Given the description of an element on the screen output the (x, y) to click on. 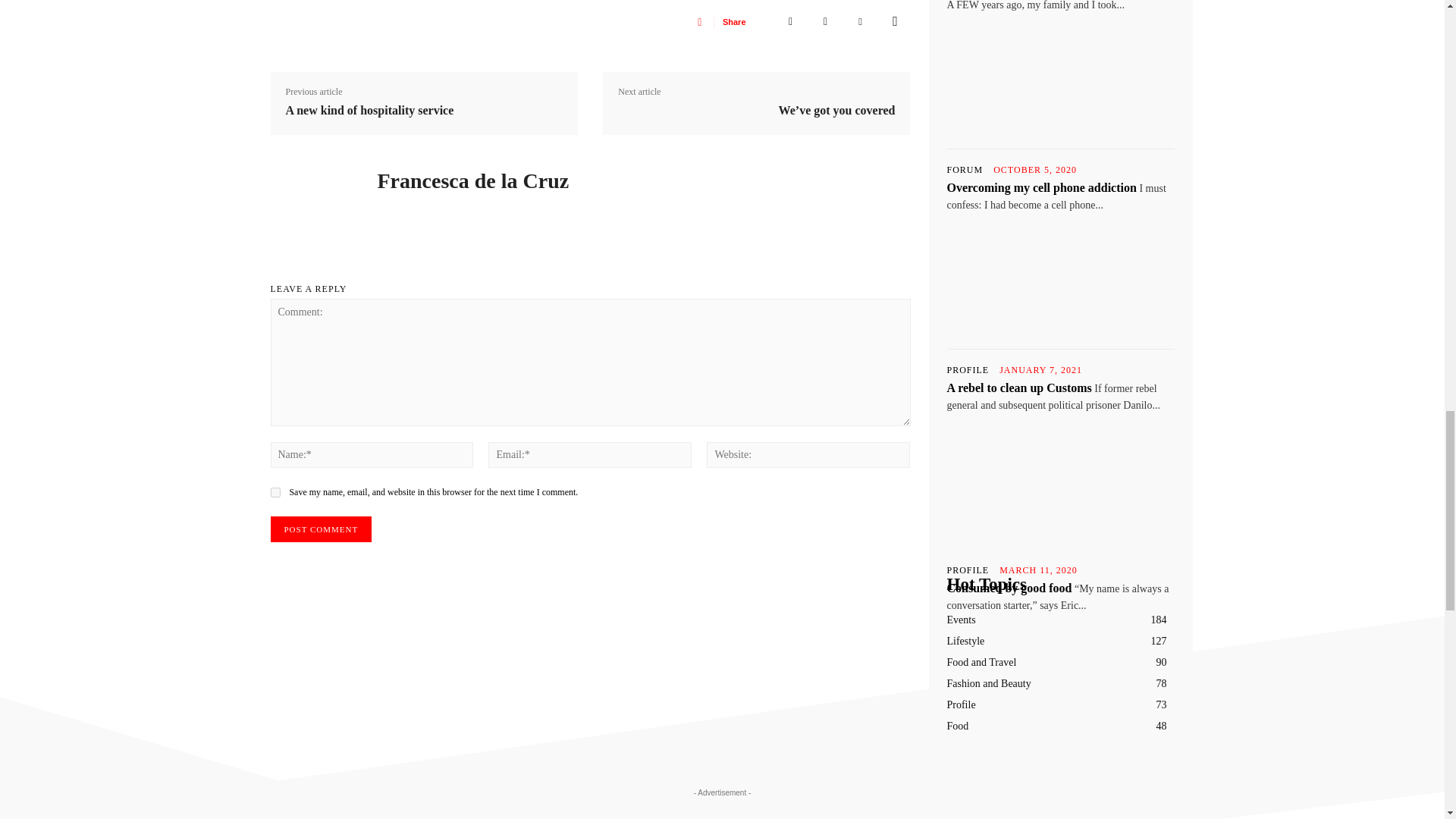
yes (274, 492)
Post Comment (320, 529)
